Given the description of an element on the screen output the (x, y) to click on. 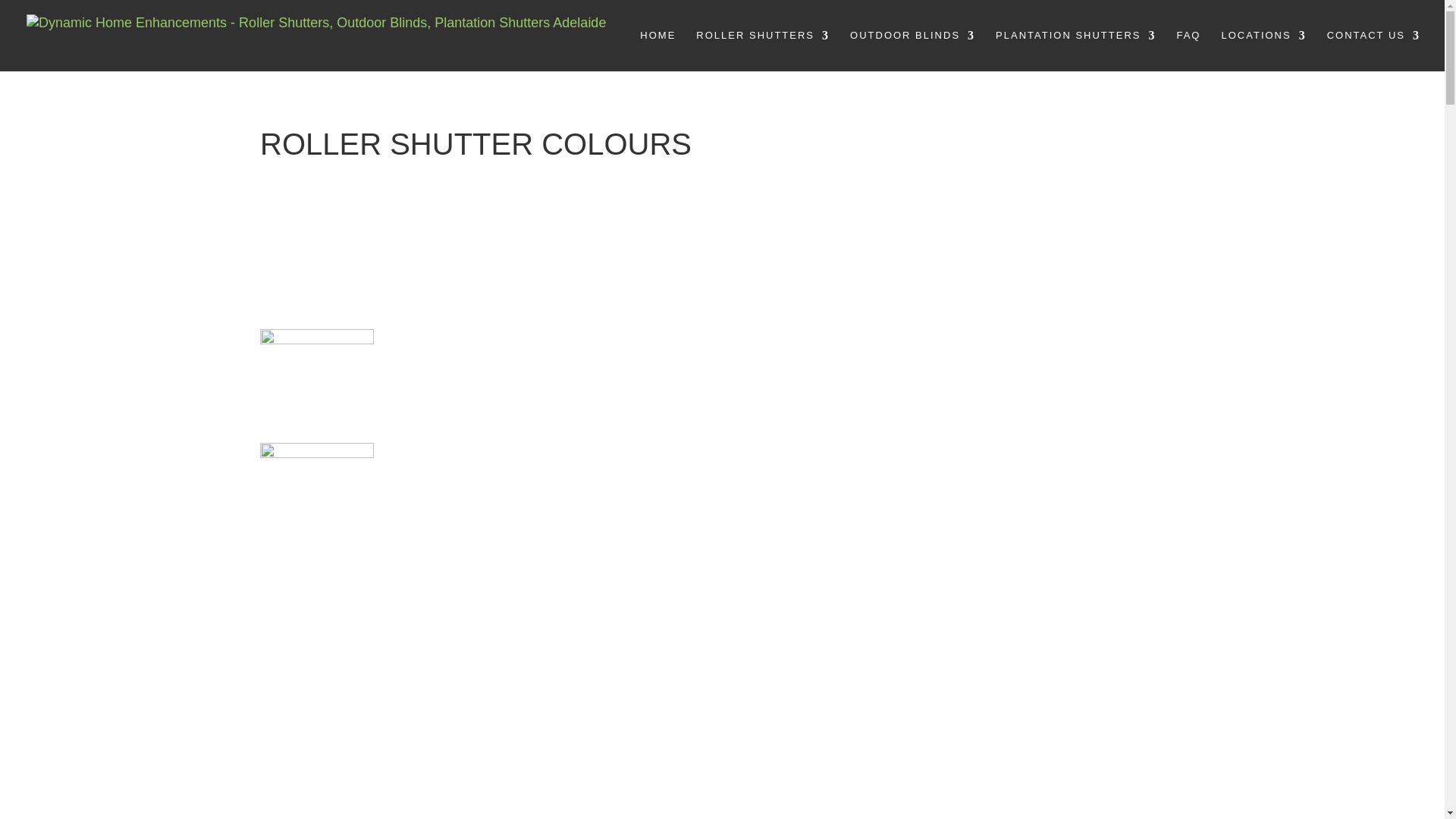
freemeasure-badge (317, 386)
PLANTATION SHUTTERS (1075, 50)
5year-badge (317, 499)
australian-badge (317, 617)
ROLLER SHUTTERS (762, 50)
In-House Installation Team Badge (317, 731)
OUTDOOR BLINDS (912, 50)
